Given the description of an element on the screen output the (x, y) to click on. 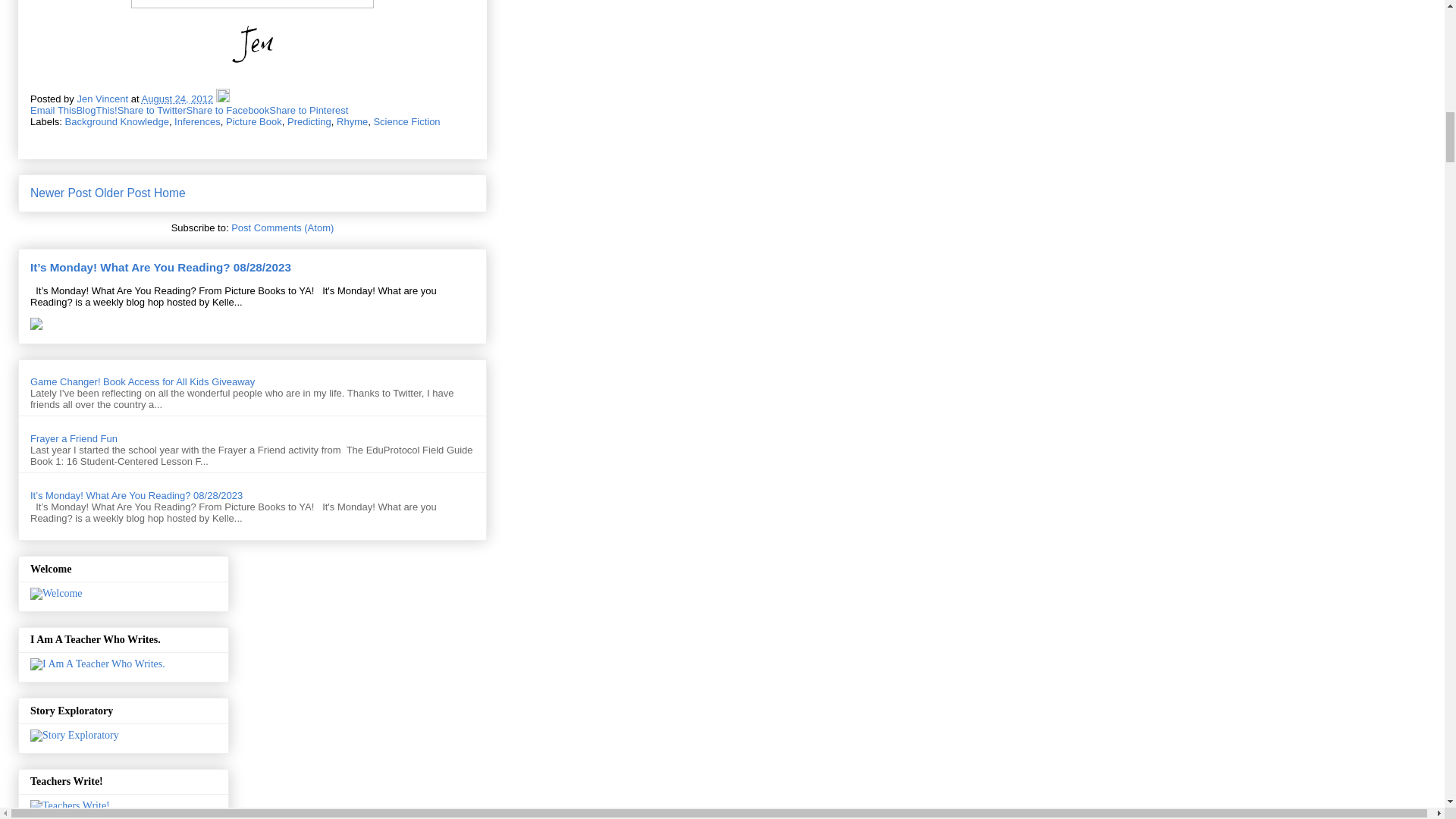
Newer Post (60, 192)
Share to Pinterest (308, 110)
Jen Vincent (104, 98)
author profile (104, 98)
Share to Twitter (151, 110)
BlogThis! (95, 110)
Background Knowledge (116, 121)
Older Post (122, 192)
Rhyme (352, 121)
Newer Post (60, 192)
Science Fiction (405, 121)
Email This (52, 110)
permanent link (177, 98)
Game Changer! Book Access for All Kids Giveaway (142, 381)
Share to Facebook (227, 110)
